Given the description of an element on the screen output the (x, y) to click on. 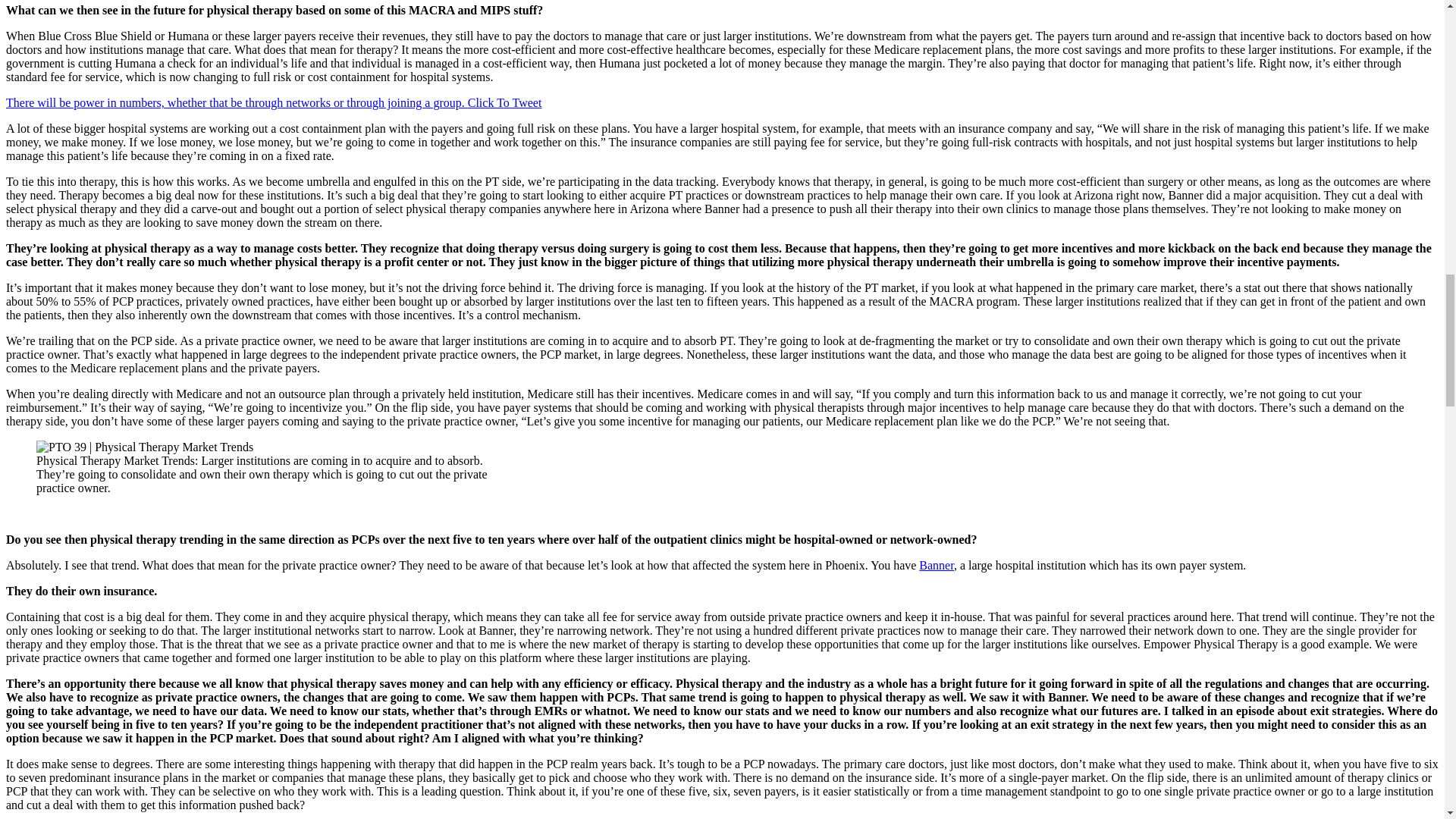
Click To Tweet (504, 102)
Banner (935, 564)
